Given the description of an element on the screen output the (x, y) to click on. 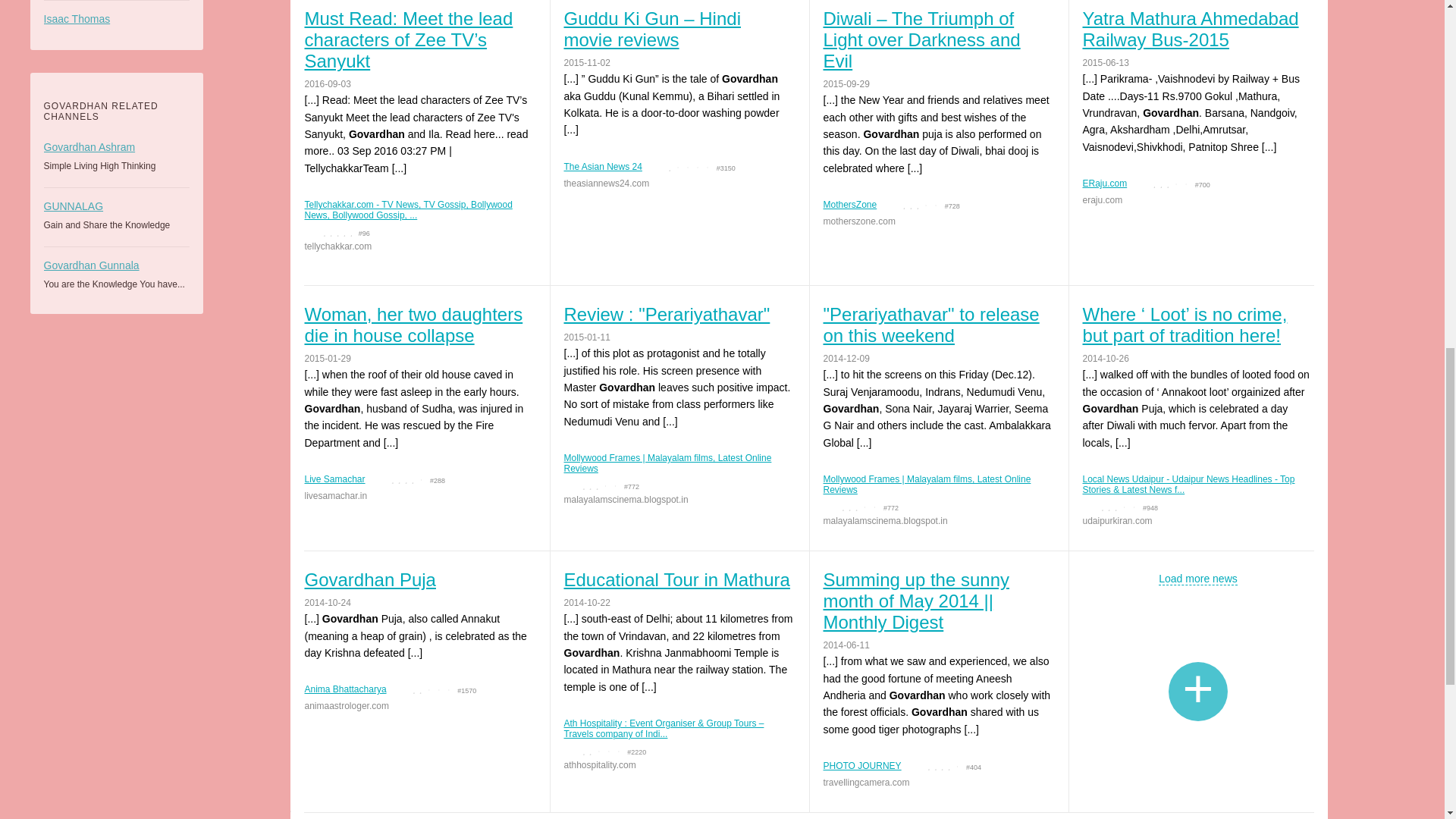
ERaju.com (1104, 183)
The Asian News 24 (603, 166)
MothersZone (850, 204)
Yatra Mathura Ahmedabad Railway Bus-2015 (1197, 29)
Woman, her two daughters die in house collapse (419, 324)
